Given the description of an element on the screen output the (x, y) to click on. 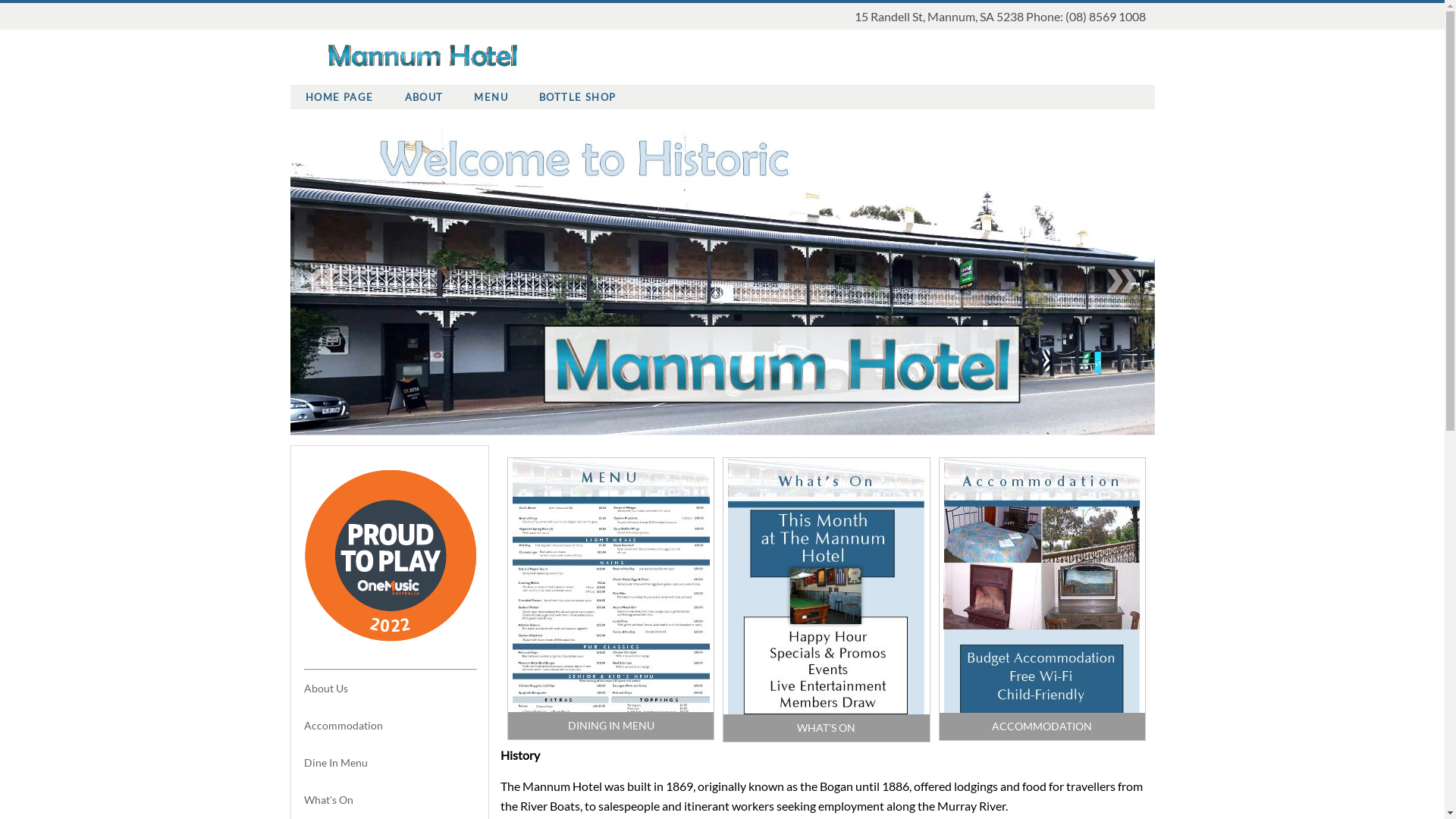
WHAT'S ON Element type: text (826, 727)
ACCOMMODATION Element type: text (1041, 725)
Accommodation Element type: text (342, 724)
DINING IN MENU Element type: text (610, 724)
ABOUT Element type: text (423, 96)
About Us Element type: text (325, 687)
MENU Element type: text (491, 96)
HOME PAGE Element type: text (339, 96)
Dine In Menu Element type: text (335, 762)
BOTTLE SHOP Element type: text (577, 96)
What's On Element type: text (327, 799)
